Given the description of an element on the screen output the (x, y) to click on. 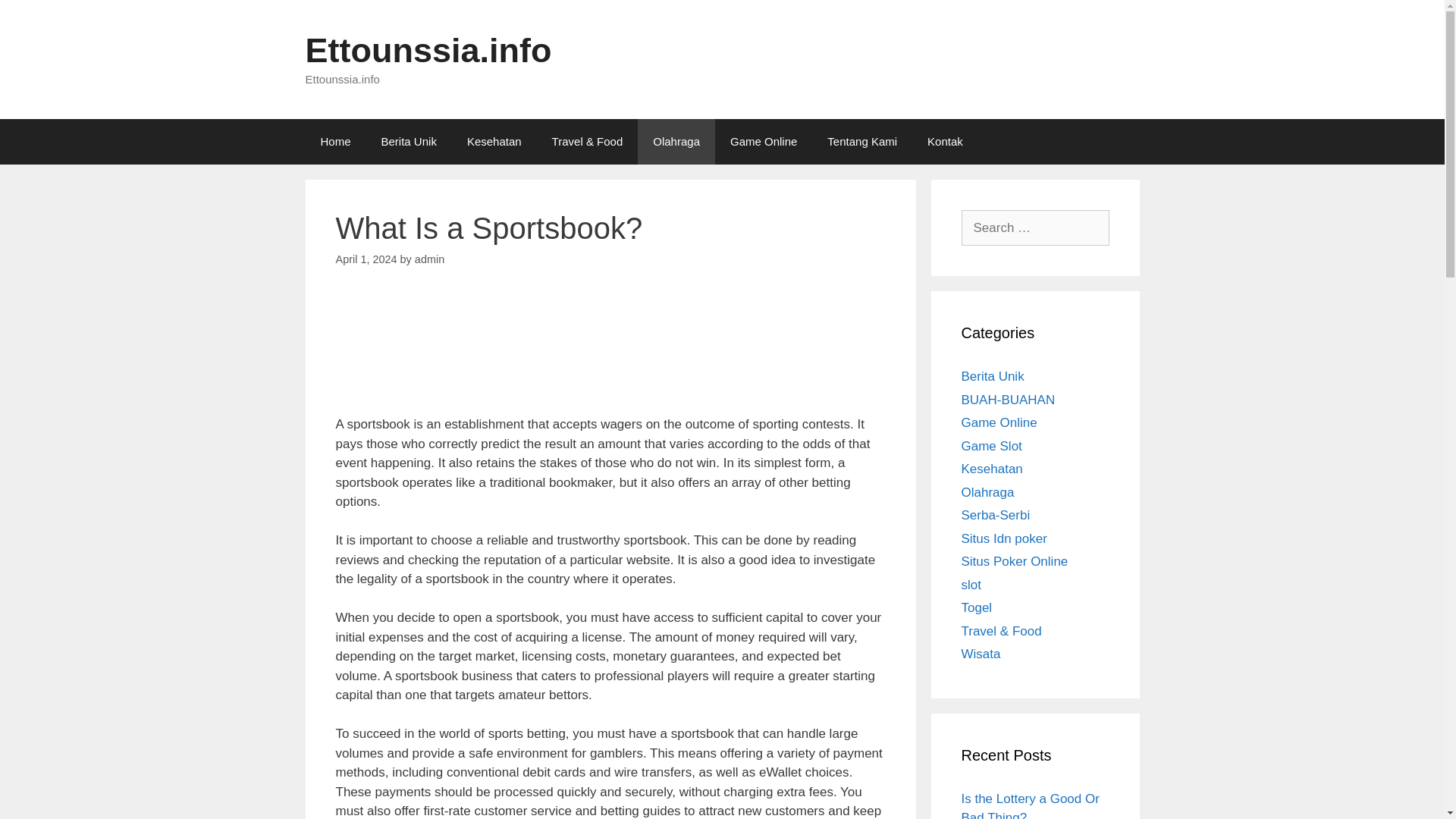
Berita Unik (992, 376)
Game Online (998, 422)
Olahraga (675, 140)
Home (334, 140)
Situs Poker Online (1014, 561)
Berita Unik (408, 140)
Situs Idn poker (1003, 537)
slot (970, 585)
Game Online (763, 140)
Tentang Kami (862, 140)
Kesehatan (494, 140)
Kontak (945, 140)
BUAH-BUAHAN (1007, 400)
admin (429, 259)
Wisata (980, 653)
